Given the description of an element on the screen output the (x, y) to click on. 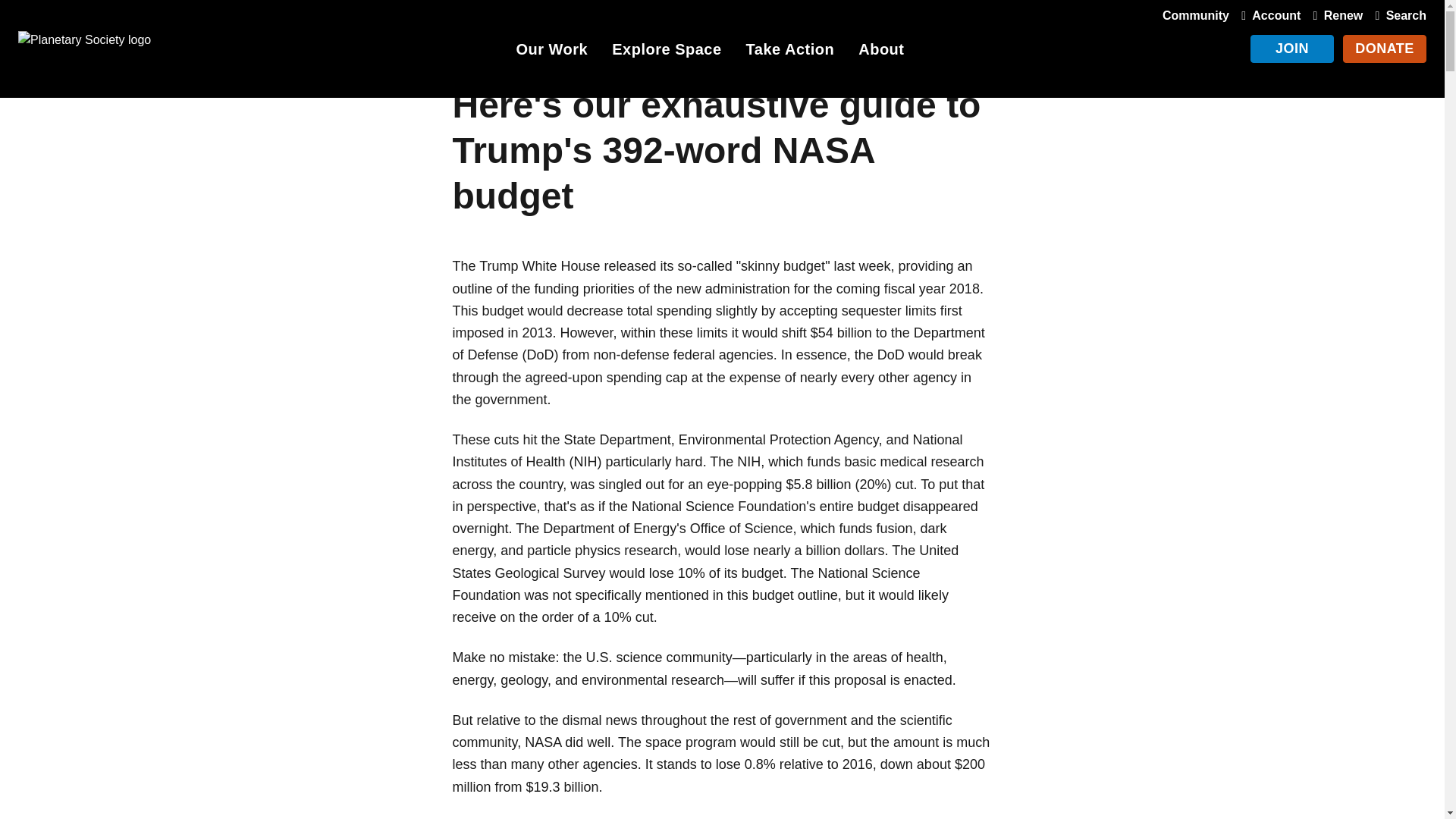
Explore Space (665, 51)
Account (1267, 15)
JOIN (1291, 49)
DONATE (1384, 49)
Our Work (551, 51)
Community (1194, 15)
Renew (1334, 15)
About (881, 51)
Take Action (789, 51)
Search (1397, 15)
